Given the description of an element on the screen output the (x, y) to click on. 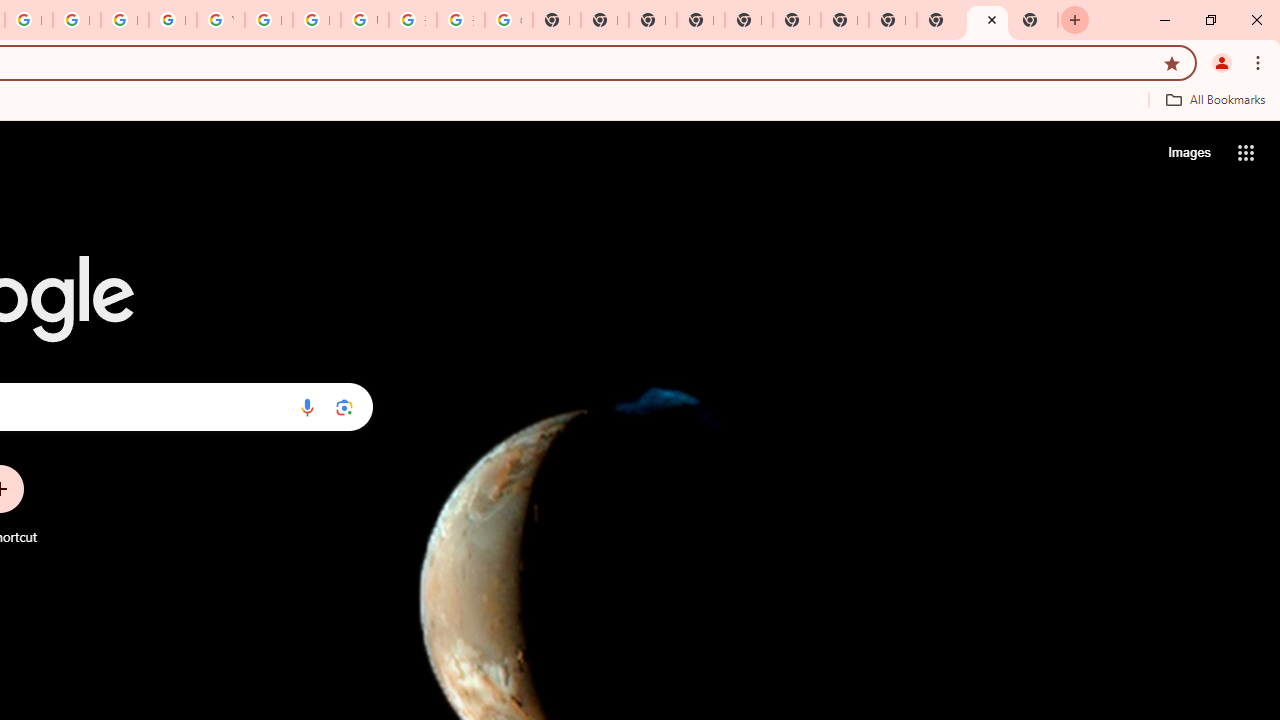
New Tab (1034, 20)
Privacy Help Center - Policies Help (76, 20)
Google Images (508, 20)
YouTube (220, 20)
